Given the description of an element on the screen output the (x, y) to click on. 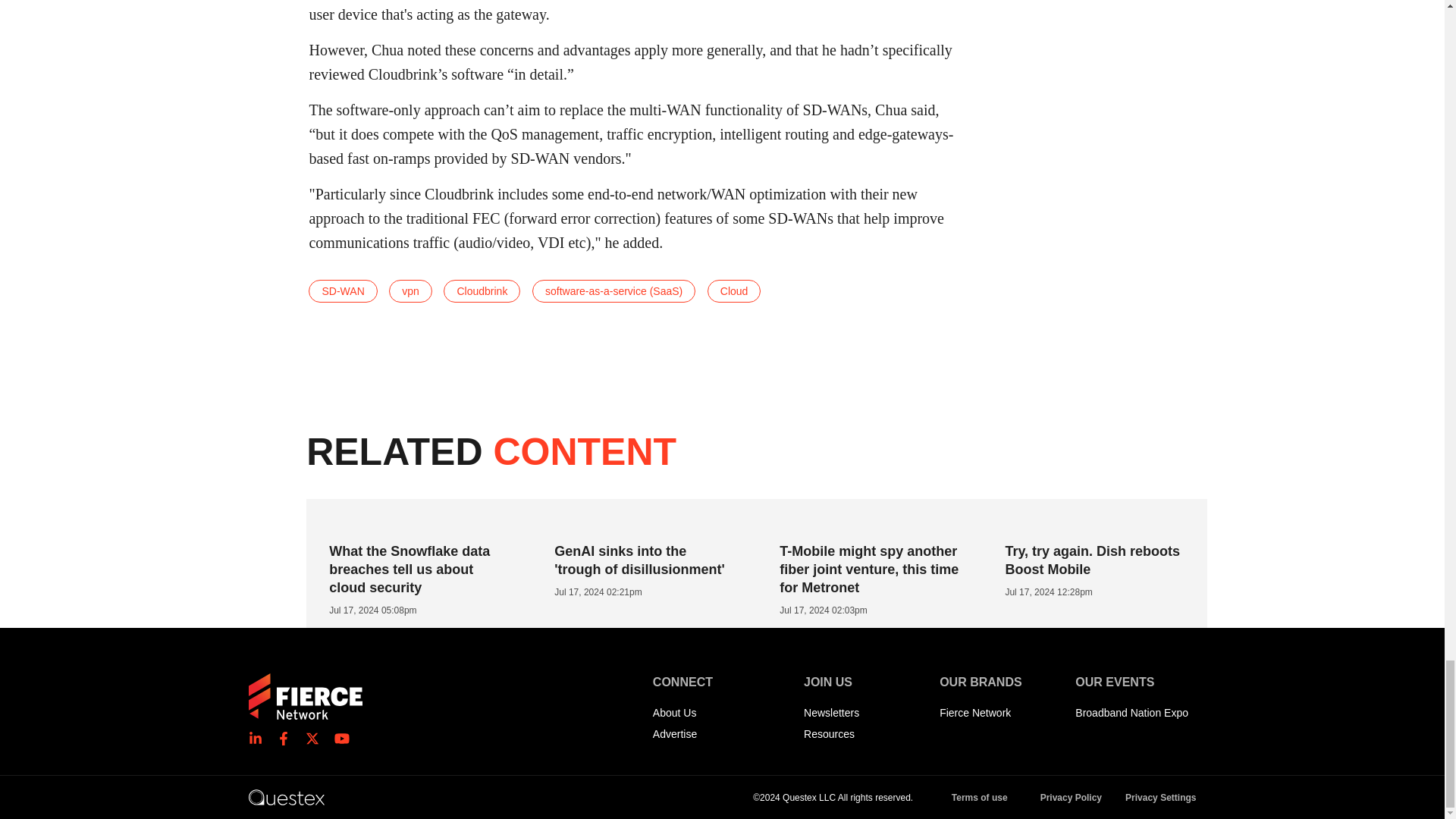
Try, try again. Dish reboots Boost Mobile (1091, 560)
GenAI sinks into the 'trough of disillusionment' (639, 560)
